Given the description of an element on the screen output the (x, y) to click on. 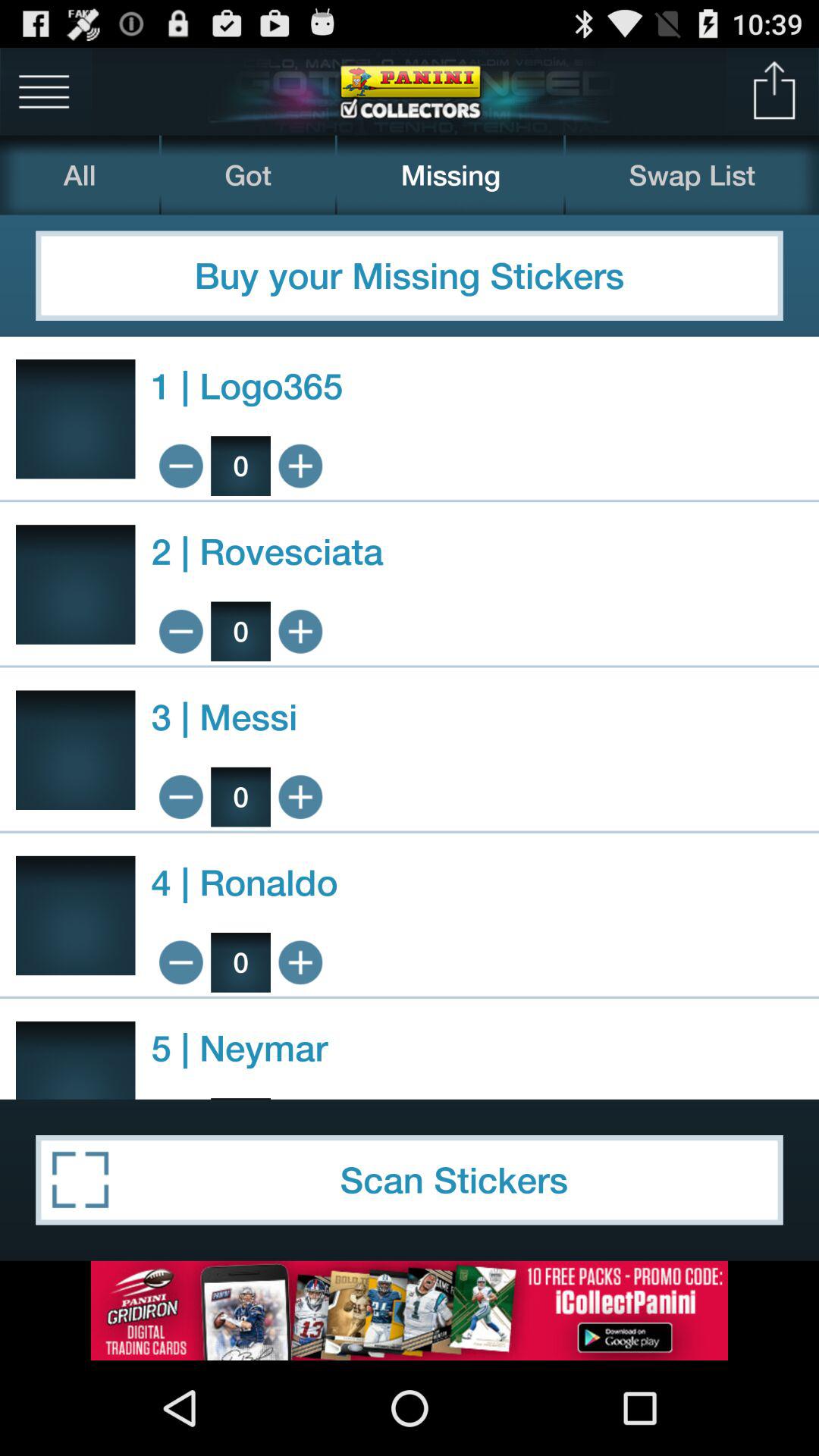
sticker add icon (300, 631)
